Given the description of an element on the screen output the (x, y) to click on. 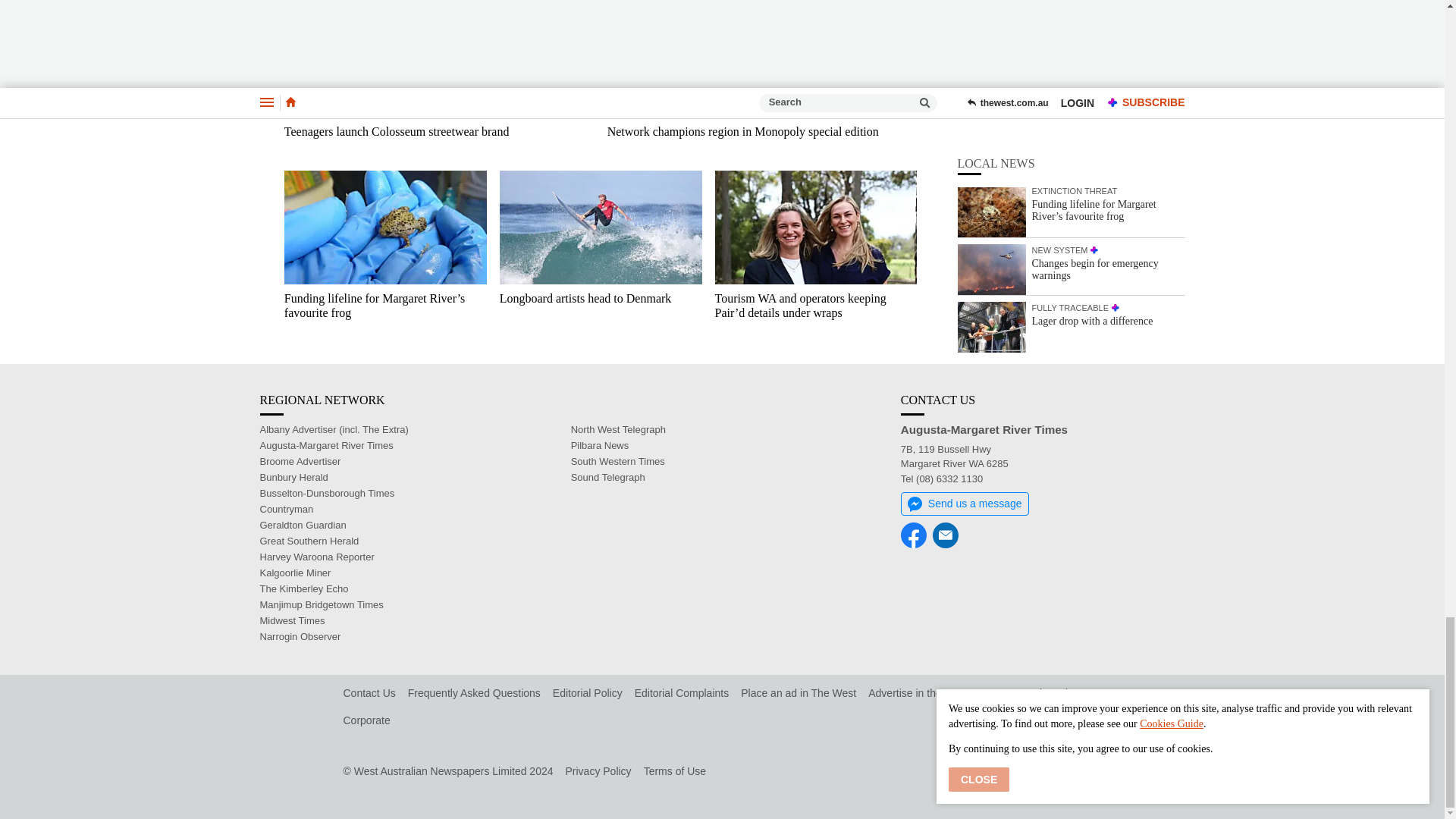
Teenagers launch Colosseum streetwear brand (438, 58)
Teenagers launch Colosseum streetwear brand (438, 138)
